Given the description of an element on the screen output the (x, y) to click on. 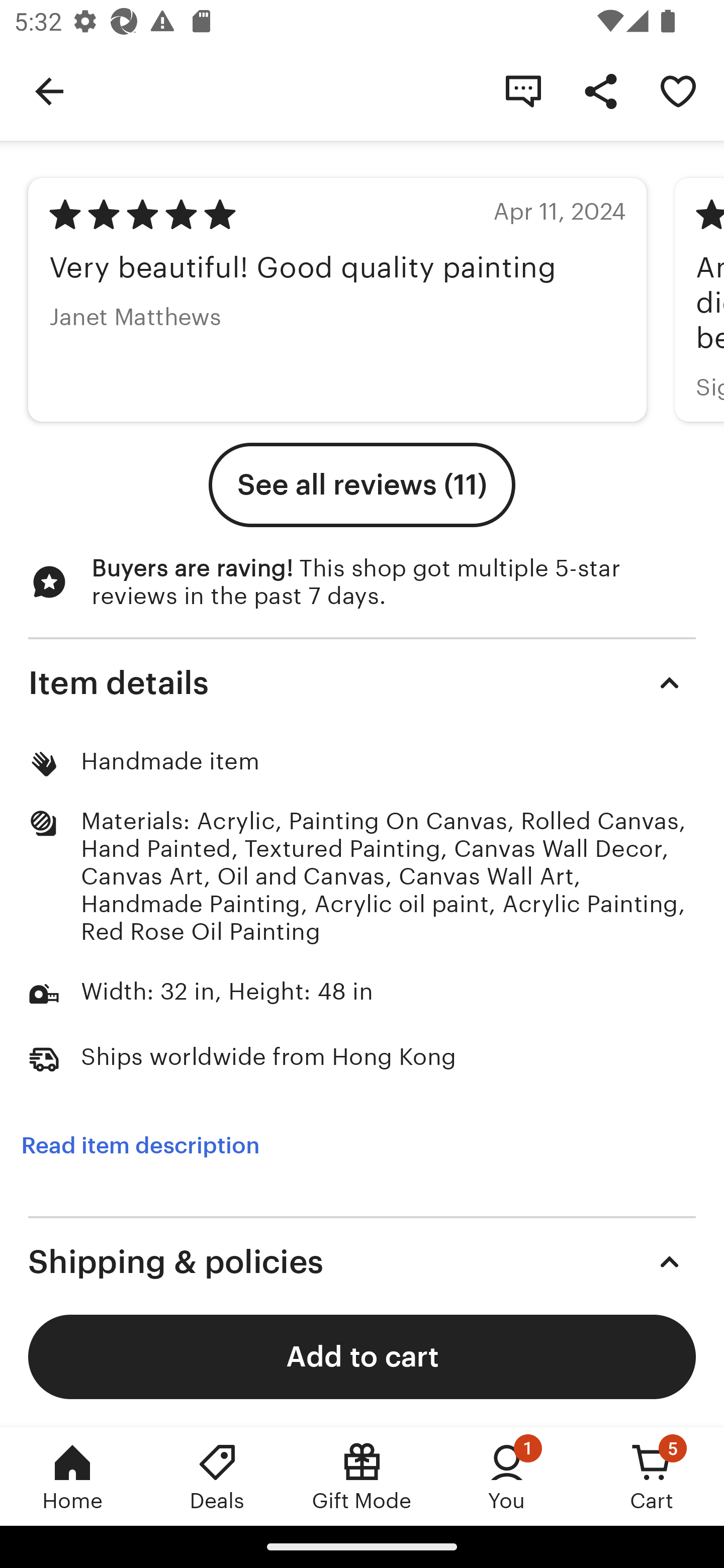
Navigate up (49, 90)
Contact shop (523, 90)
Share (600, 90)
See all reviews (11) (361, 484)
Item details (362, 682)
Read item description (140, 1145)
Shipping & policies (362, 1261)
Add to cart (361, 1355)
Deals (216, 1475)
Gift Mode (361, 1475)
You, 1 new notification You (506, 1475)
Cart, 5 new notifications Cart (651, 1475)
